Given the description of an element on the screen output the (x, y) to click on. 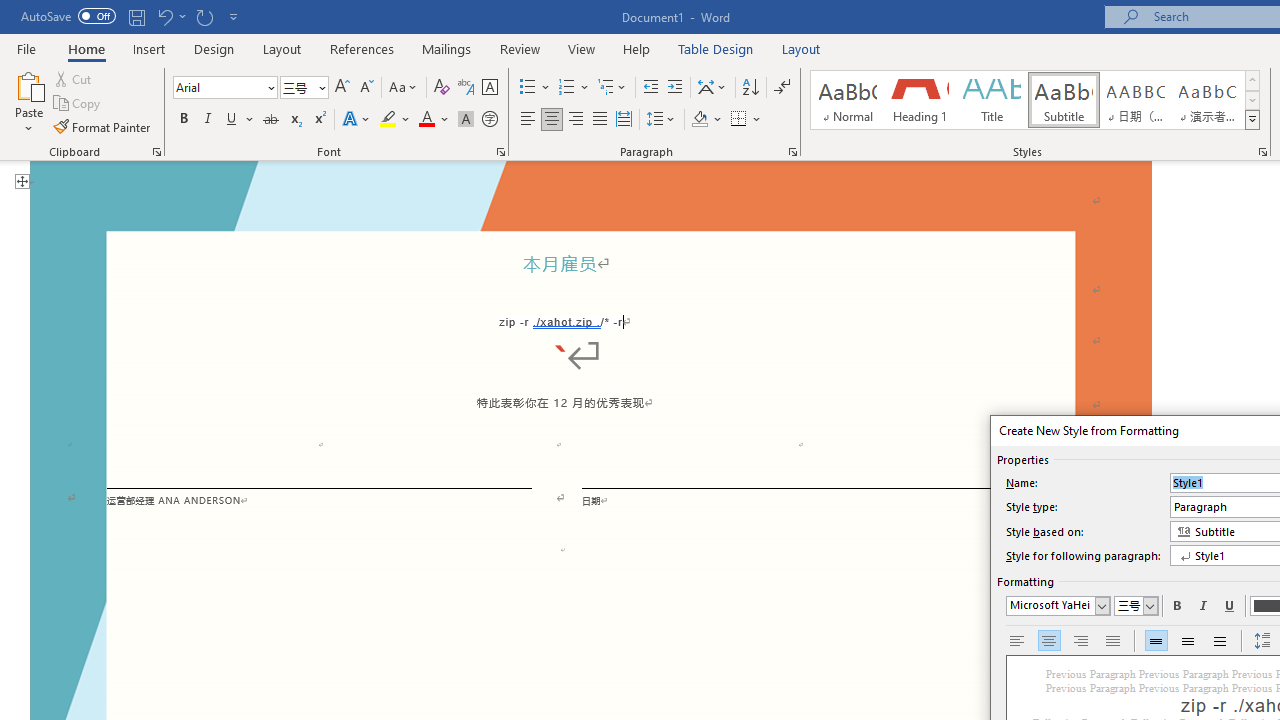
Undo Paste (170, 15)
